Given the description of an element on the screen output the (x, y) to click on. 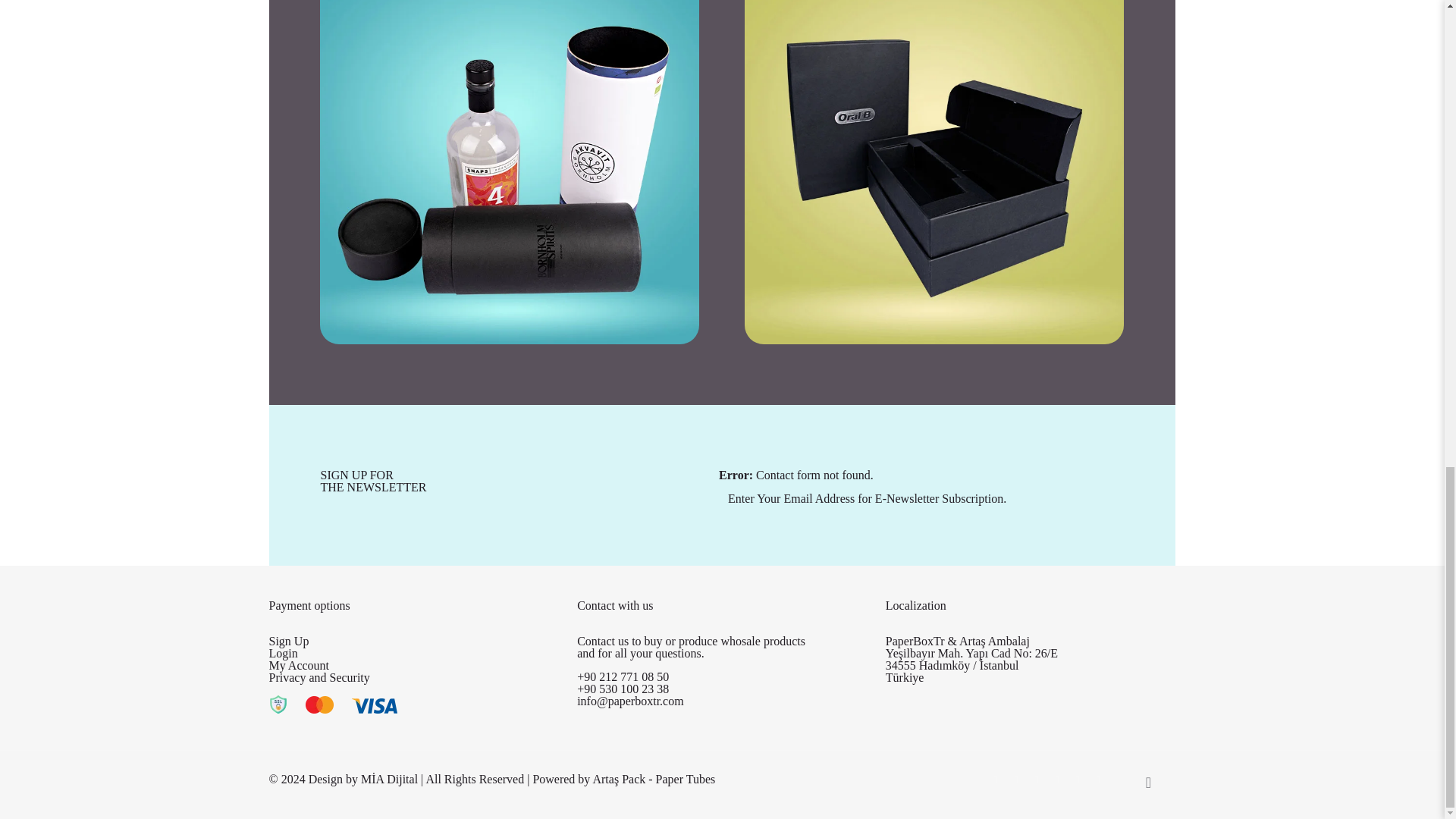
LinkedIn (1057, 779)
Instagram (1098, 779)
Paper Tubes (686, 779)
Privacy and Security (318, 676)
Facebook (995, 779)
Login (282, 653)
Sign Up (287, 640)
My Account (298, 665)
Paper Tubes (686, 779)
YouTube (1035, 779)
